Given the description of an element on the screen output the (x, y) to click on. 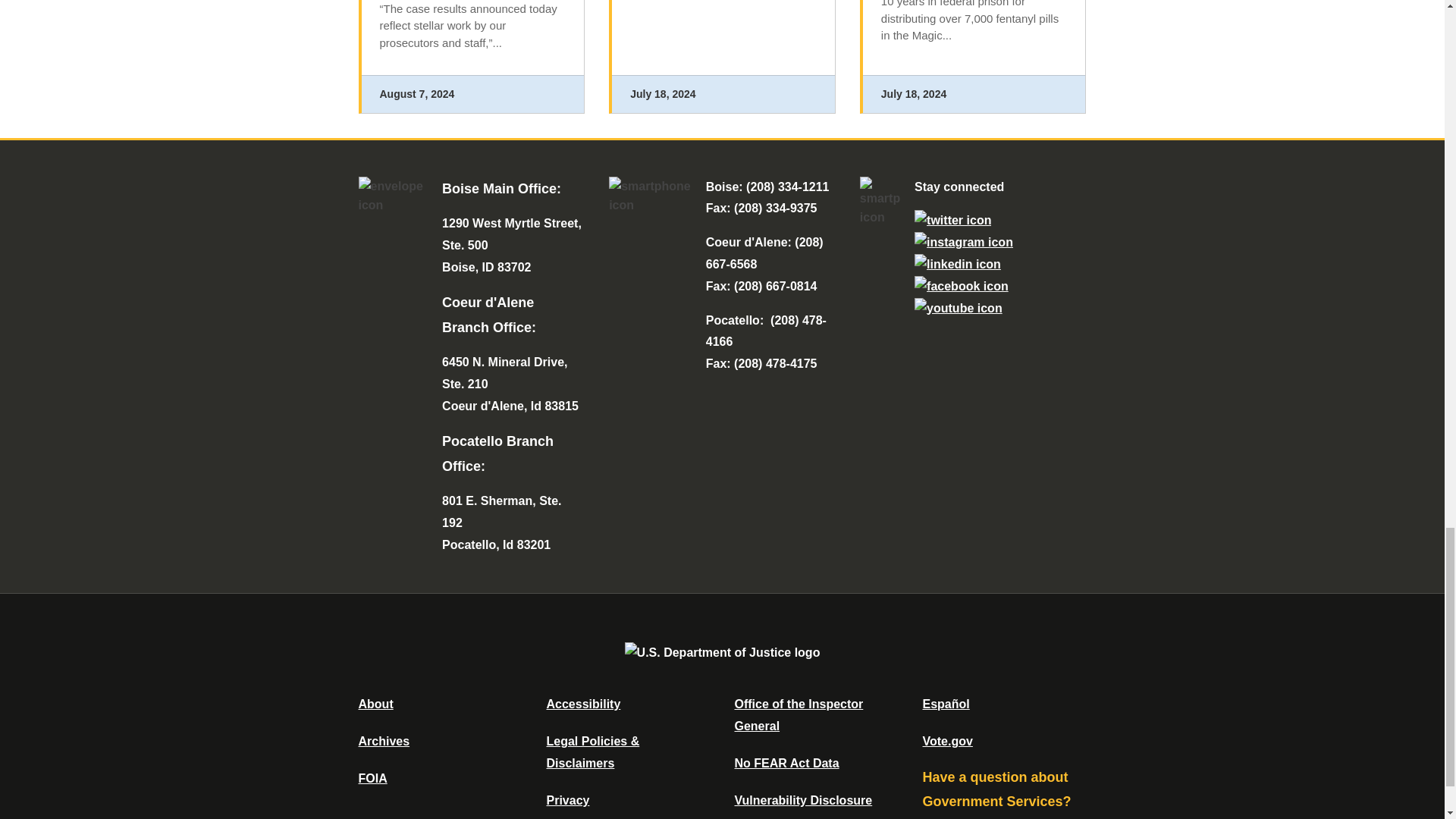
Legal Policies and Disclaimers (592, 751)
Department of Justice Archive (383, 740)
Data Posted Pursuant To The No Fear Act (785, 762)
Accessibility Statement (583, 703)
About DOJ (375, 703)
Office of Information Policy (372, 778)
